Given the description of an element on the screen output the (x, y) to click on. 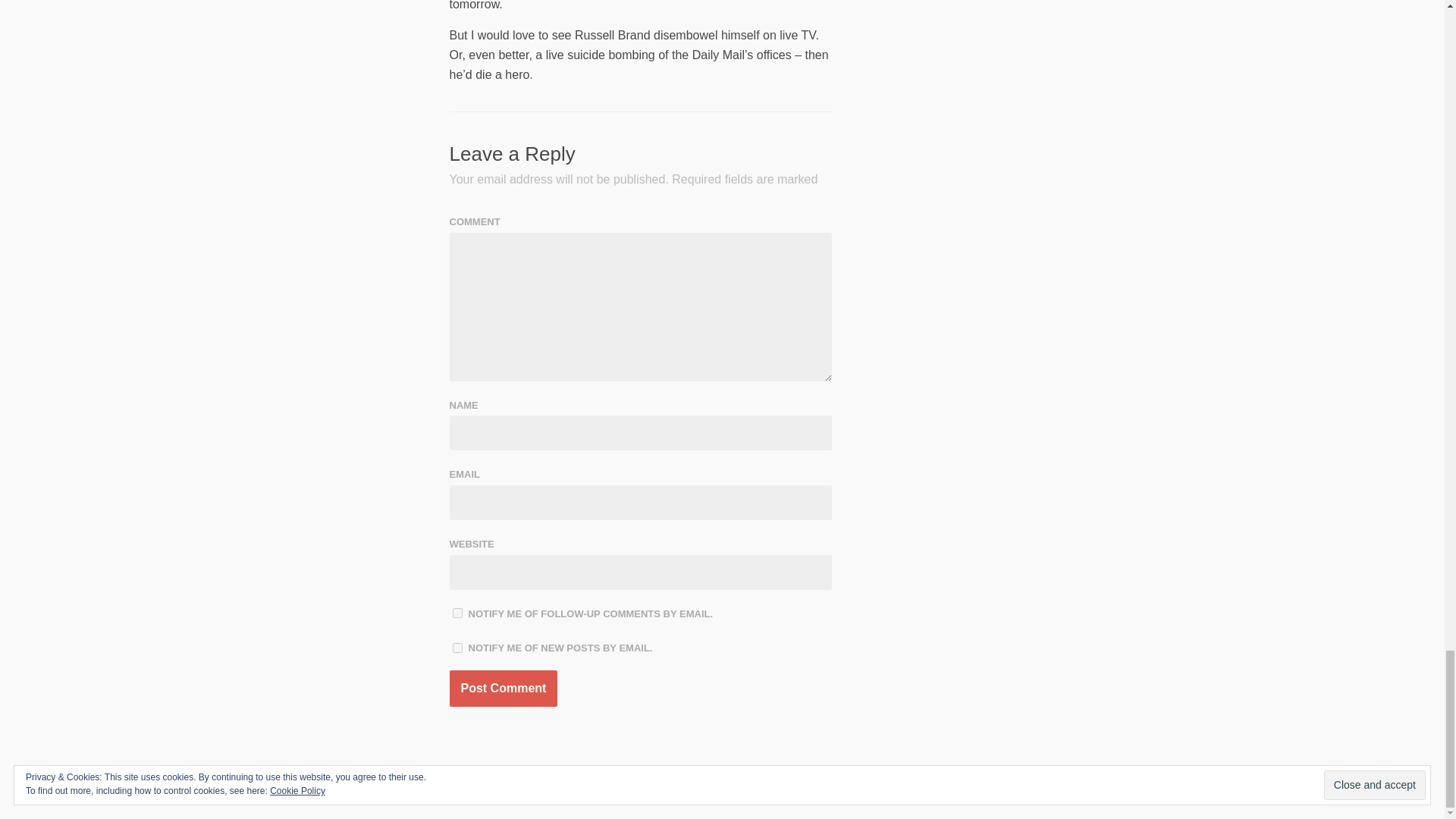
Post Comment (502, 688)
subscribe (456, 613)
subscribe (456, 647)
